Given the description of an element on the screen output the (x, y) to click on. 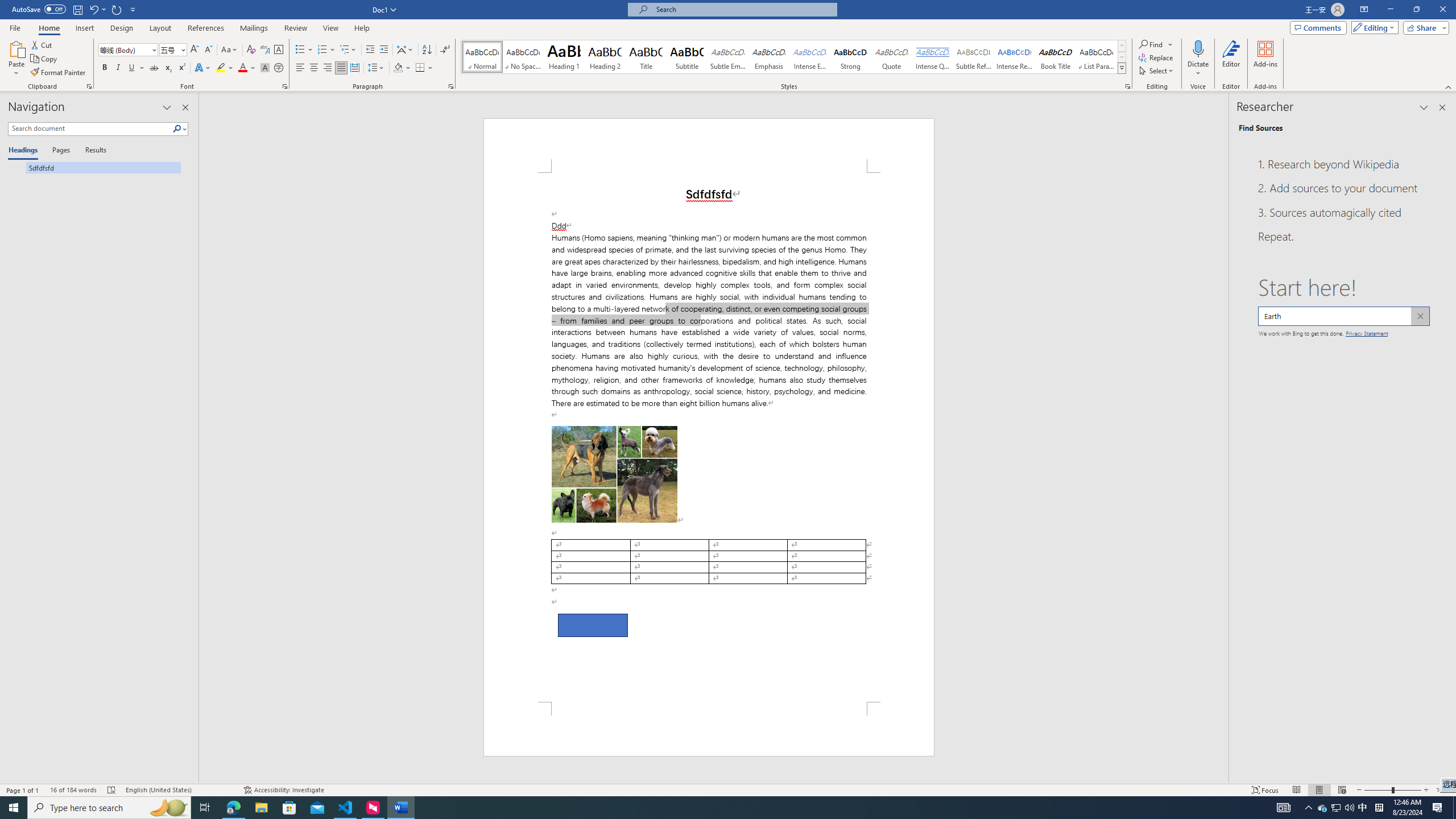
Research people, events, concepts, and places (1343, 315)
Language English (United States) (178, 790)
Accessibility Checker Accessibility: Investigate (283, 790)
Zoom Out (1377, 790)
Cancel (1419, 316)
Justify (340, 67)
Page 1 content (708, 436)
Print Layout (1318, 790)
Quick Access Toolbar (74, 9)
Font (128, 49)
Design (122, 28)
Zoom In (1426, 790)
Phonetic Guide... (264, 49)
Undo  (96, 9)
